Given the description of an element on the screen output the (x, y) to click on. 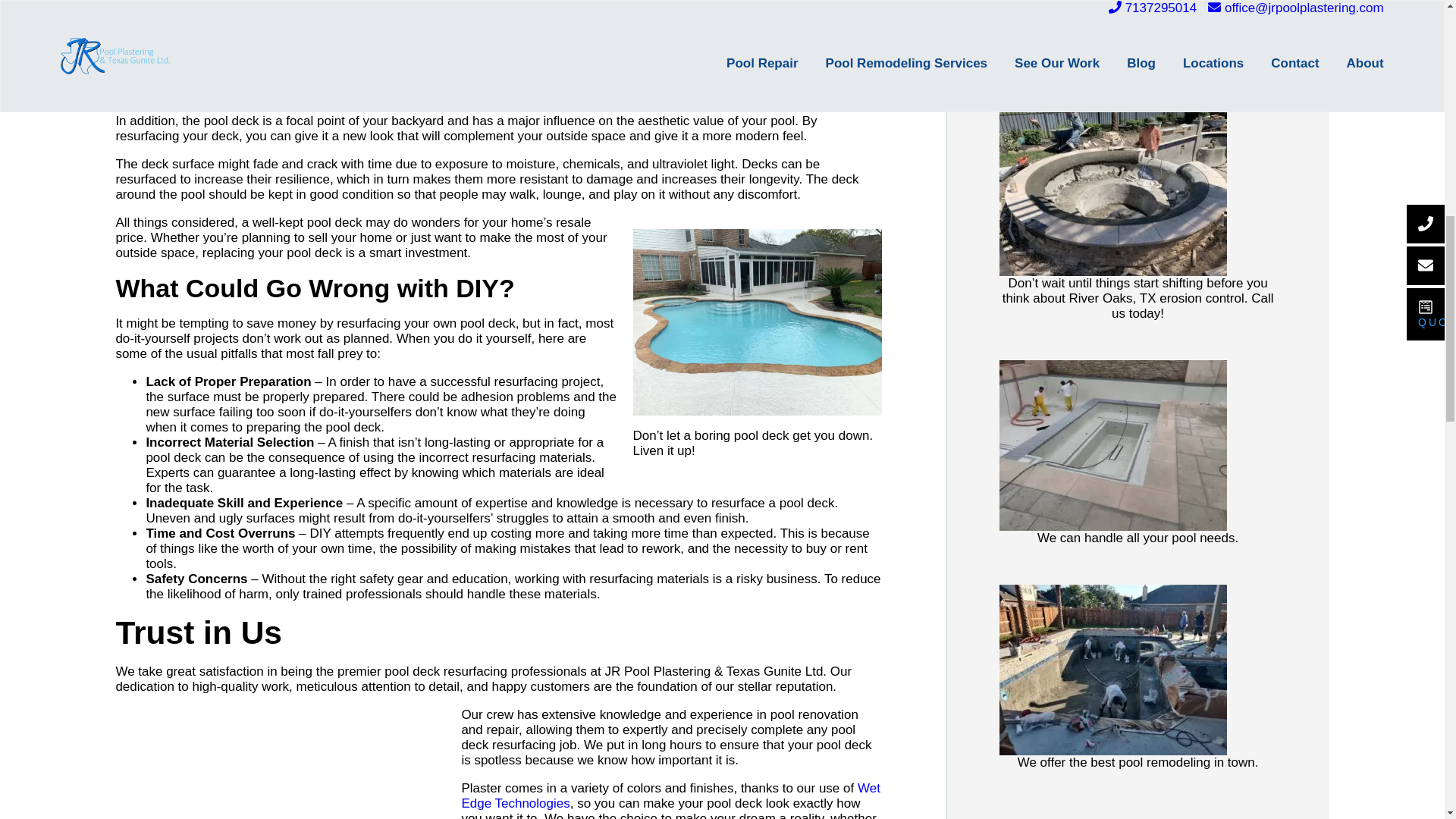
Wet Edge Technologies (670, 795)
